Given the description of an element on the screen output the (x, y) to click on. 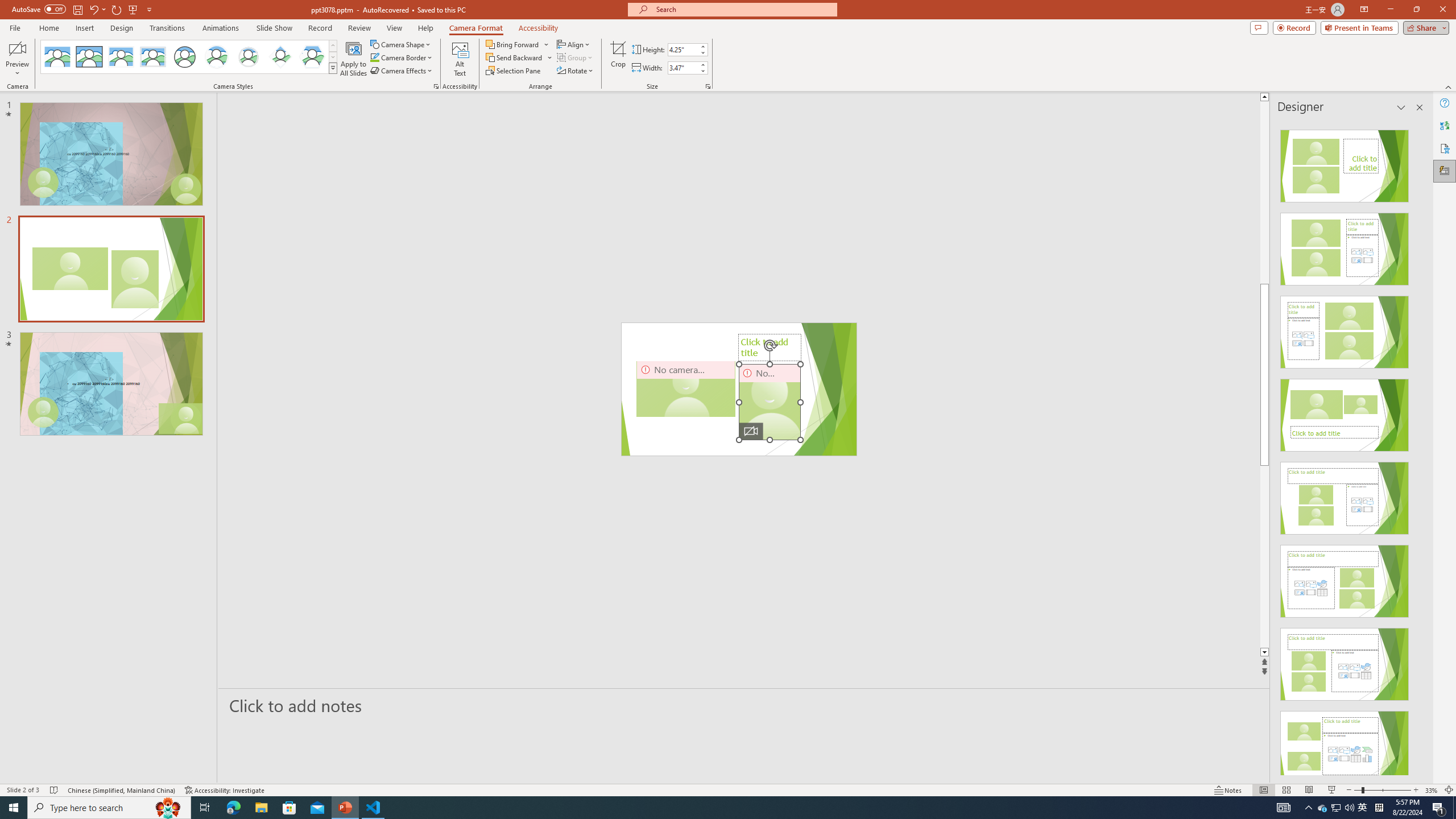
Recommended Design: Design Idea (1344, 162)
AutomationID: CameoStylesGallery (189, 56)
Crop (617, 58)
Size and Position... (707, 85)
Soft Edge Rectangle (152, 56)
Align (574, 44)
